Given the description of an element on the screen output the (x, y) to click on. 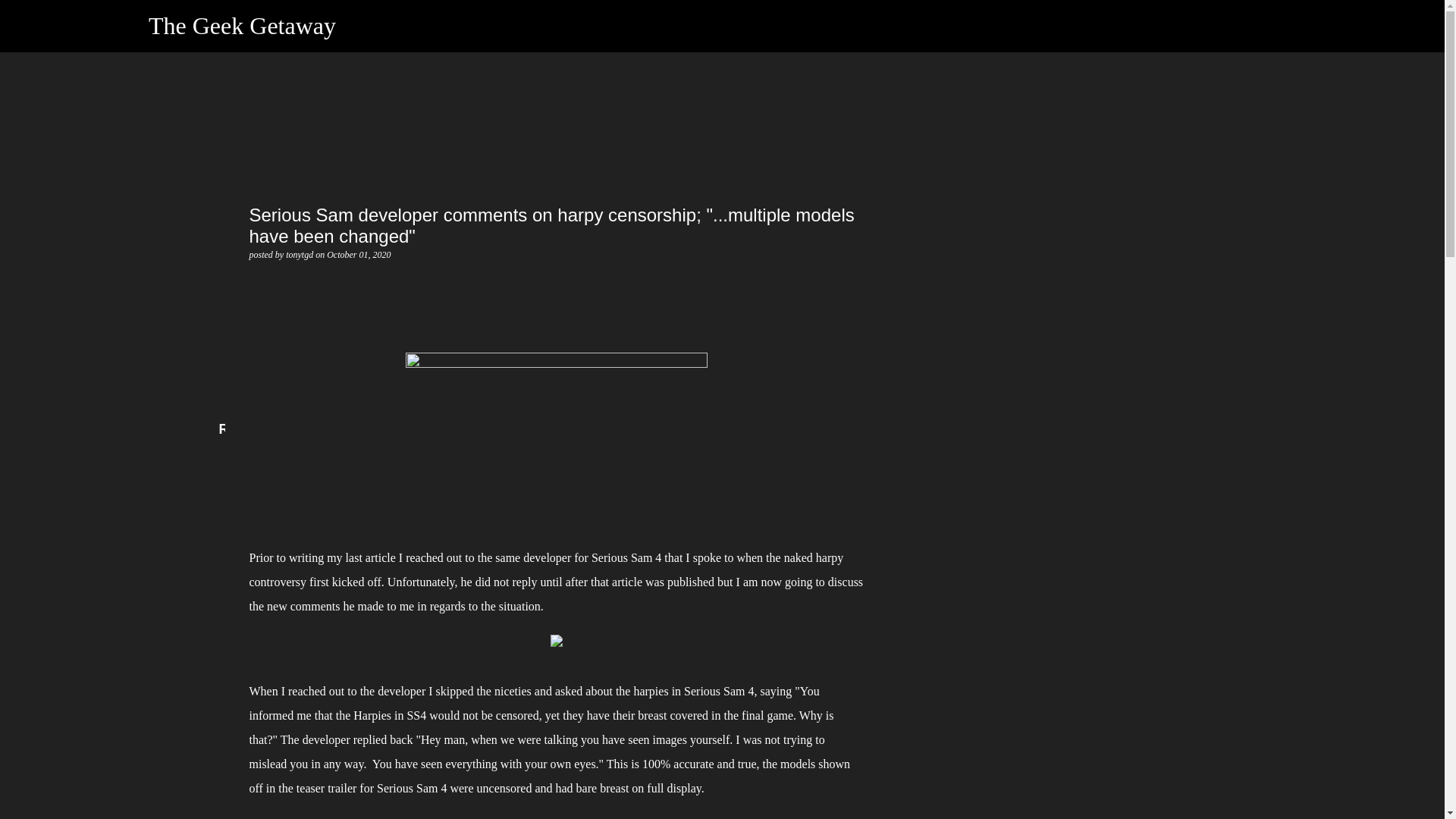
permanent link (358, 254)
October 01, 2020 (358, 254)
The Geek Getaway (242, 25)
